Given the description of an element on the screen output the (x, y) to click on. 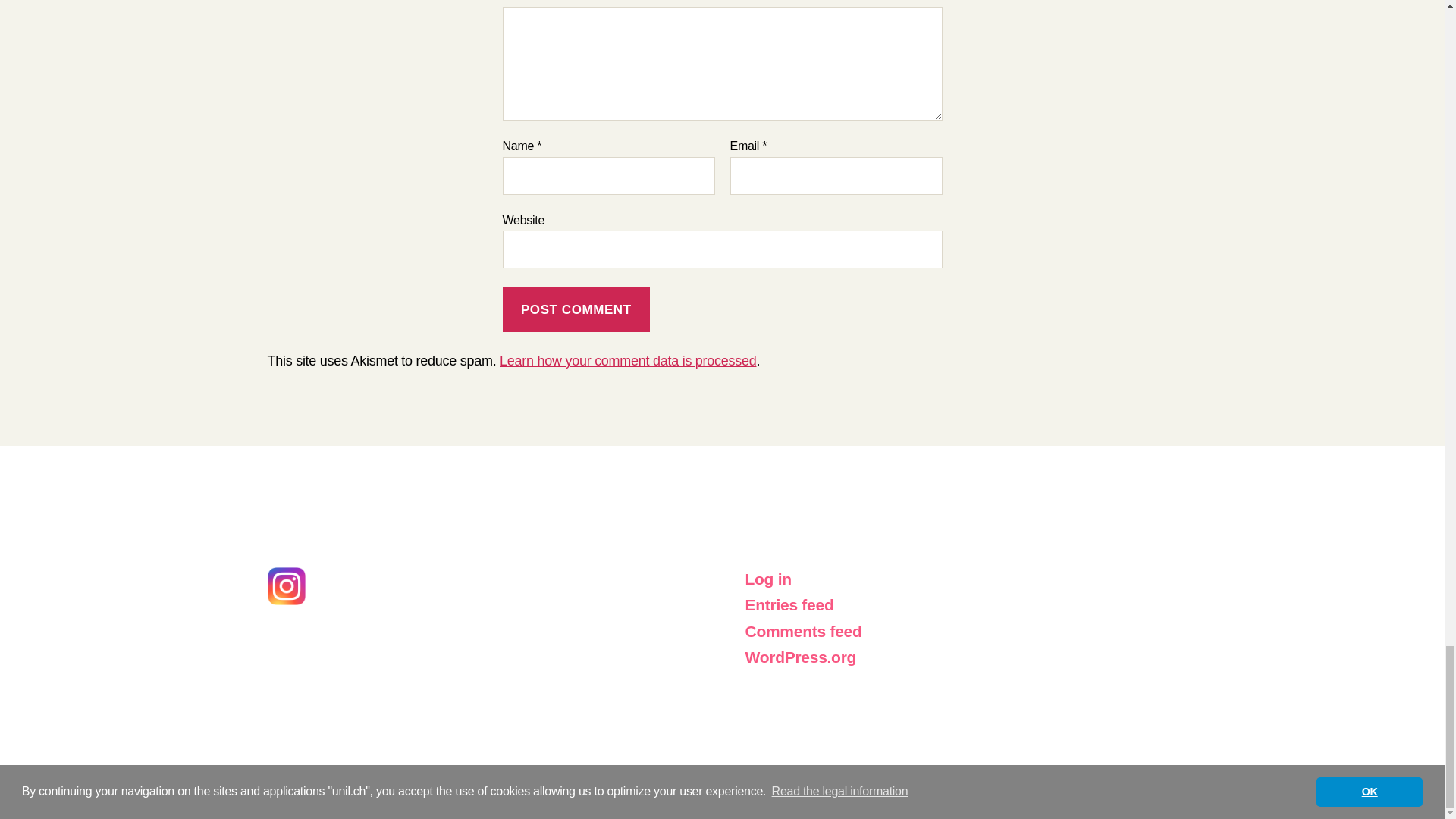
Post Comment (575, 309)
